Given the description of an element on the screen output the (x, y) to click on. 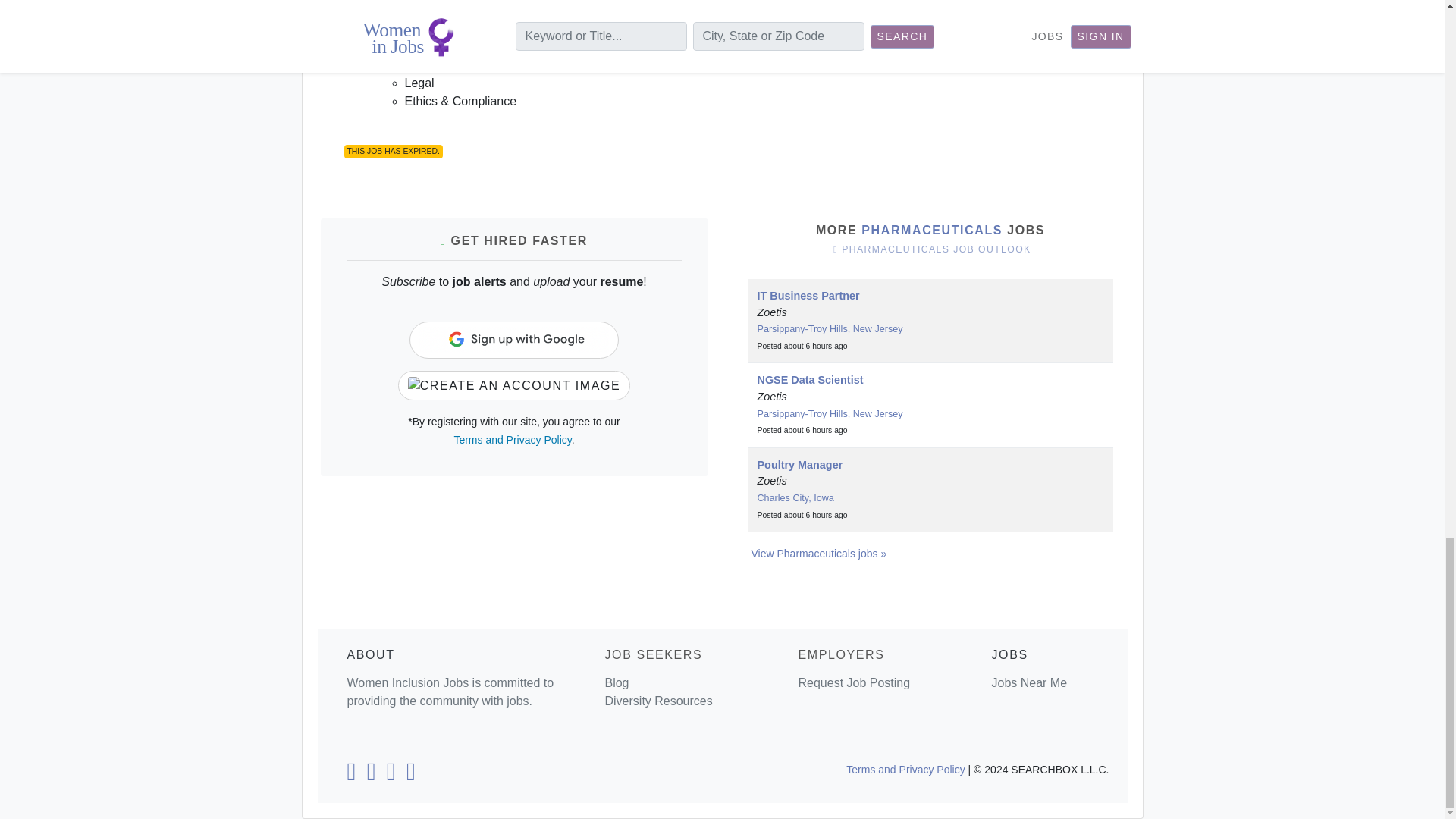
NGSE Data Scientist (810, 379)
Blog (616, 682)
IT Business Partner (808, 295)
Poultry Manager (800, 464)
Link to LinkedIn (350, 775)
Charles City, Iowa (794, 498)
ABOUT (370, 654)
Diversity Resources (657, 700)
Terms and Privacy Policy (511, 439)
